Given the description of an element on the screen output the (x, y) to click on. 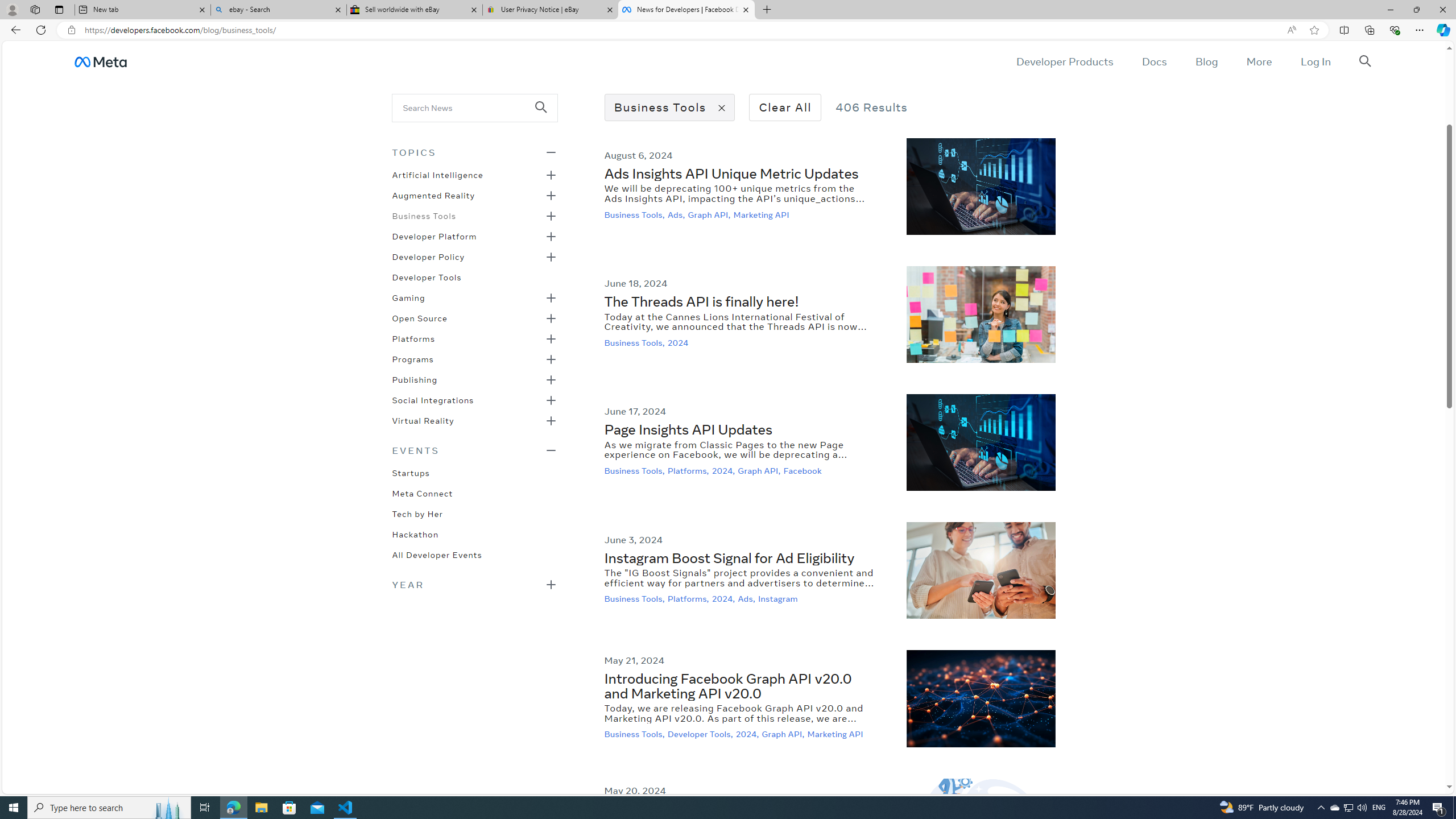
User Privacy Notice | eBay (550, 9)
Docs (1153, 61)
Class: _9890 _98ez (474, 584)
Workspaces (34, 9)
Read aloud this page (Ctrl+Shift+U) (1291, 29)
Developer Tools, (700, 733)
Class: _58al (467, 107)
Tech by Her (416, 512)
Instagram (778, 598)
Developer Products (1064, 61)
Add this page to favorites (Ctrl+D) (1314, 29)
Split screen (1344, 29)
2024 (678, 342)
